Given the description of an element on the screen output the (x, y) to click on. 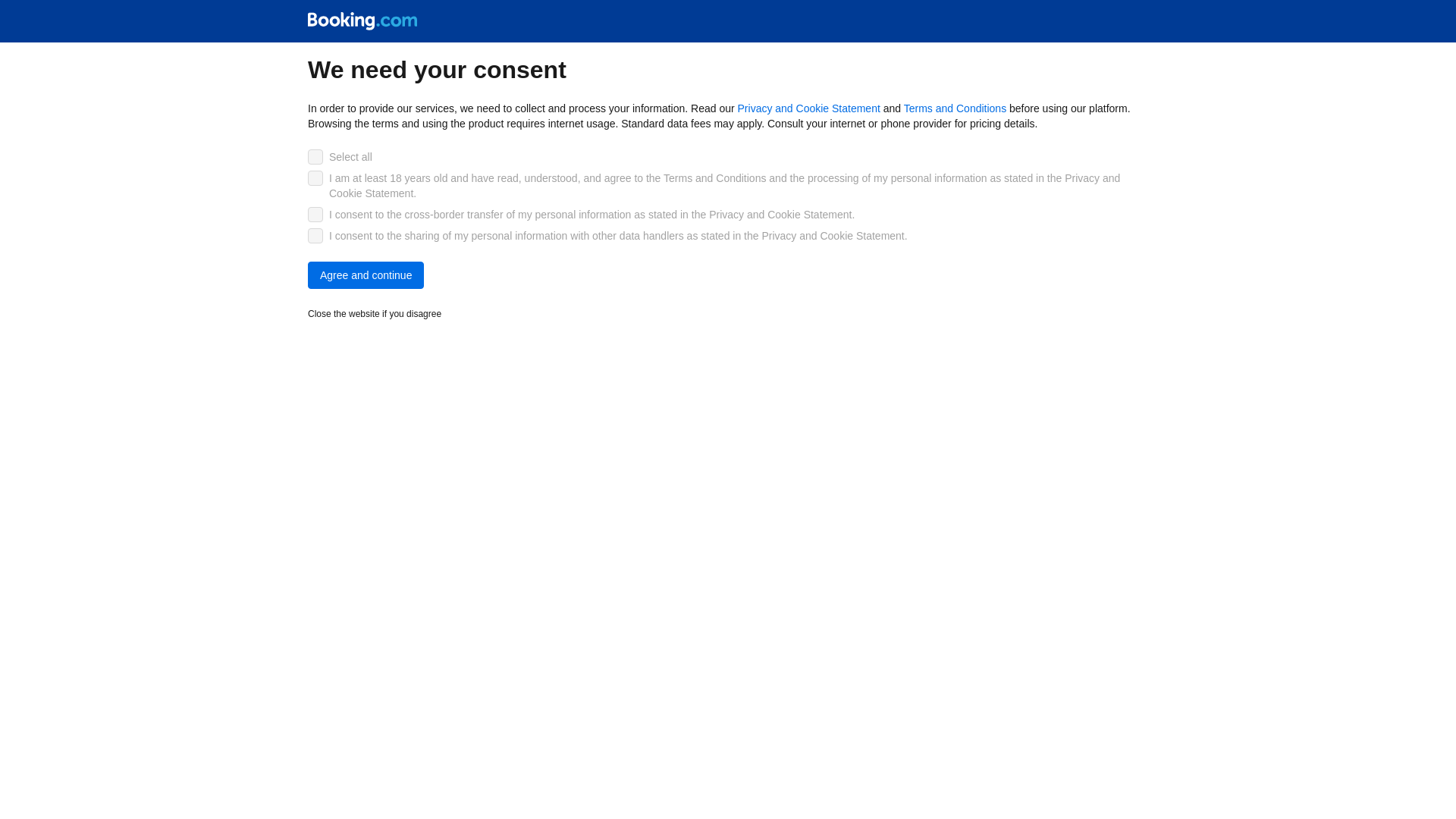
Privacy and Cookie Statement (809, 108)
Agree and continue (365, 275)
Terms and Conditions (955, 108)
